Given the description of an element on the screen output the (x, y) to click on. 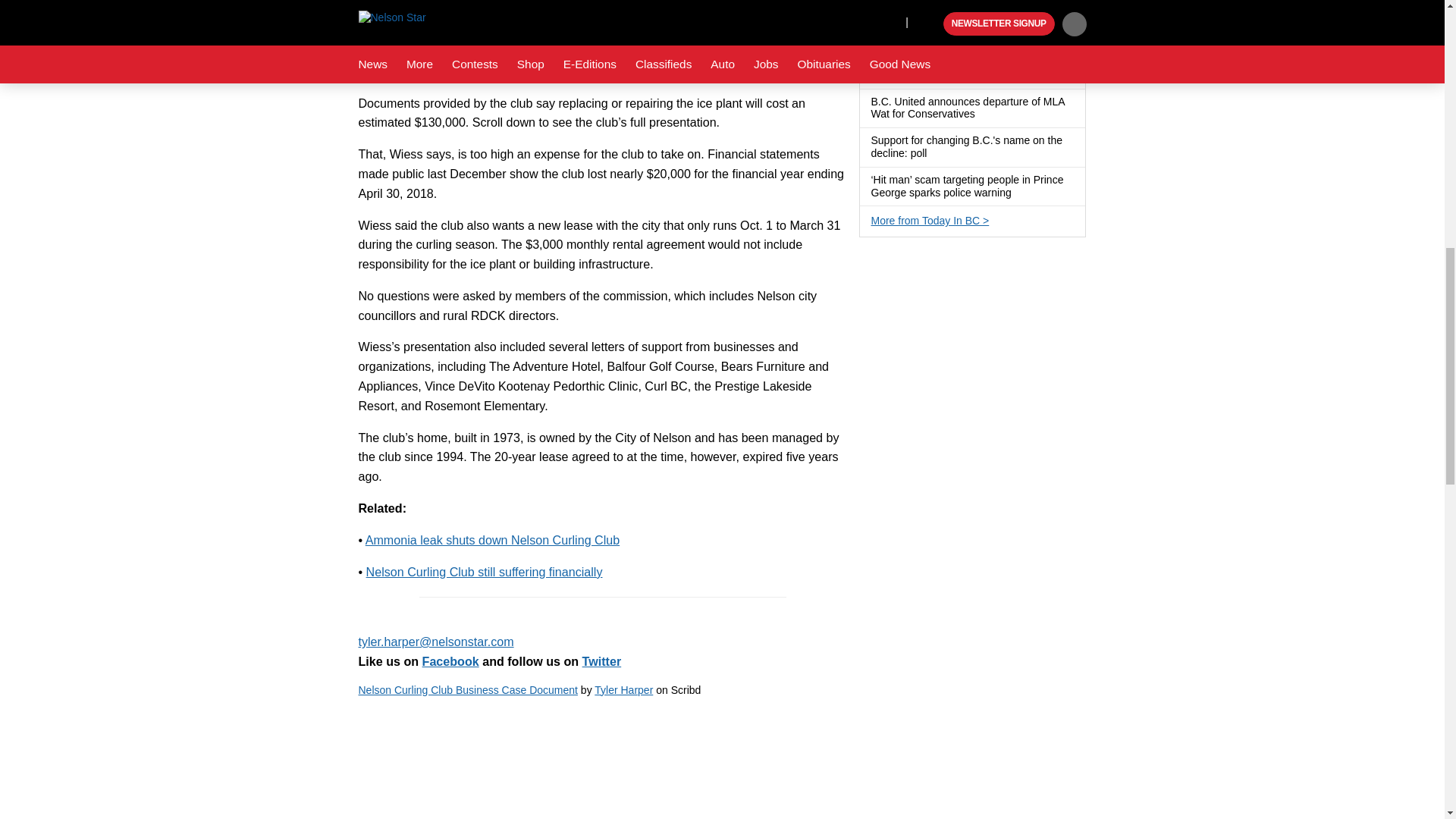
Nelson Curling Club Business Case Document (602, 760)
View Nelson Curling Club Business Case Document on Scribd (467, 689)
Has a gallery (984, 36)
View Tyler Harper's profile on Scribd (623, 689)
